Given the description of an element on the screen output the (x, y) to click on. 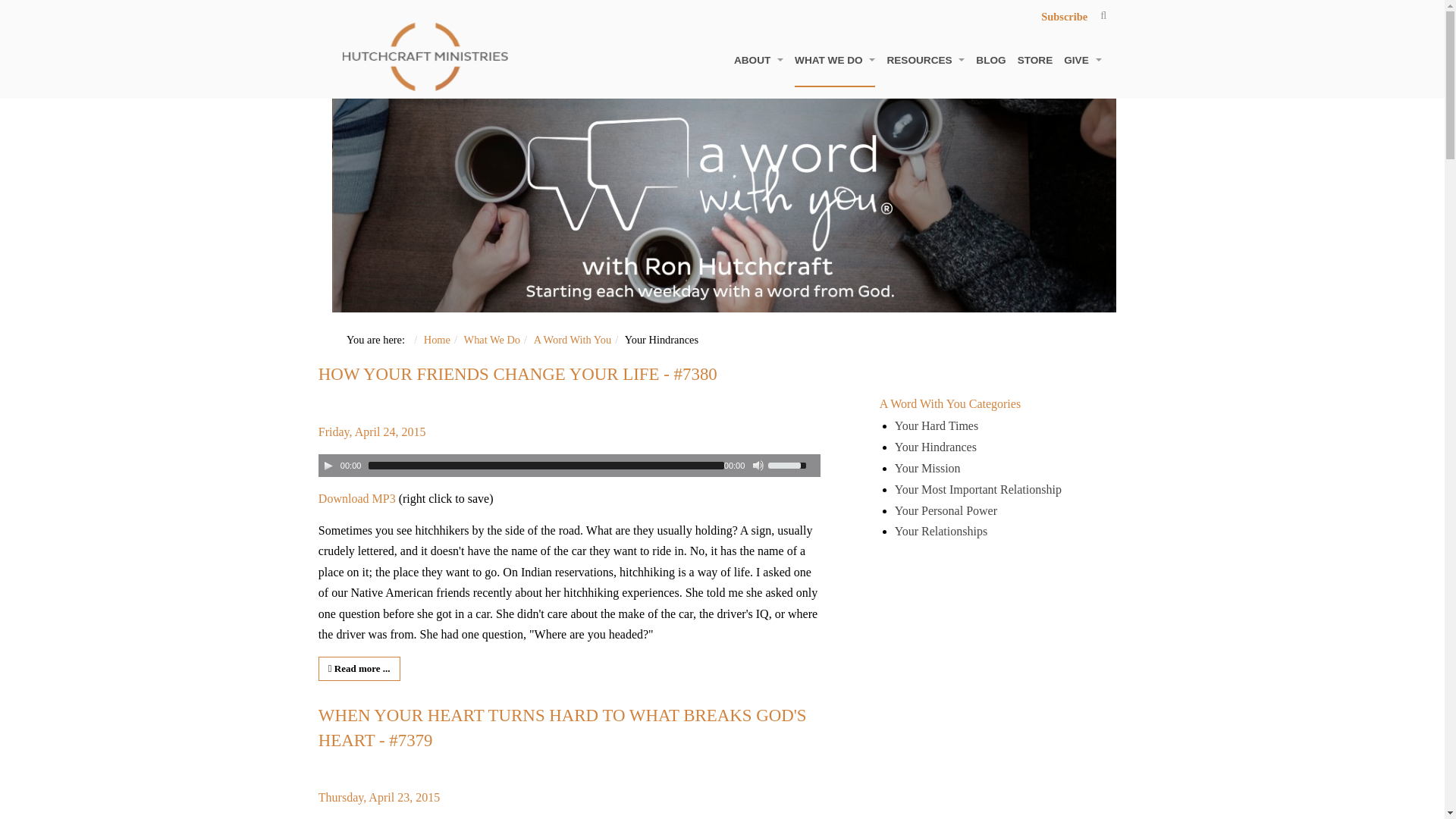
WHAT WE DO (834, 60)
Subscribe (1064, 16)
ABOUT (758, 60)
Mute Toggle (758, 465)
Hutchcraft Ministries (425, 56)
